Given the description of an element on the screen output the (x, y) to click on. 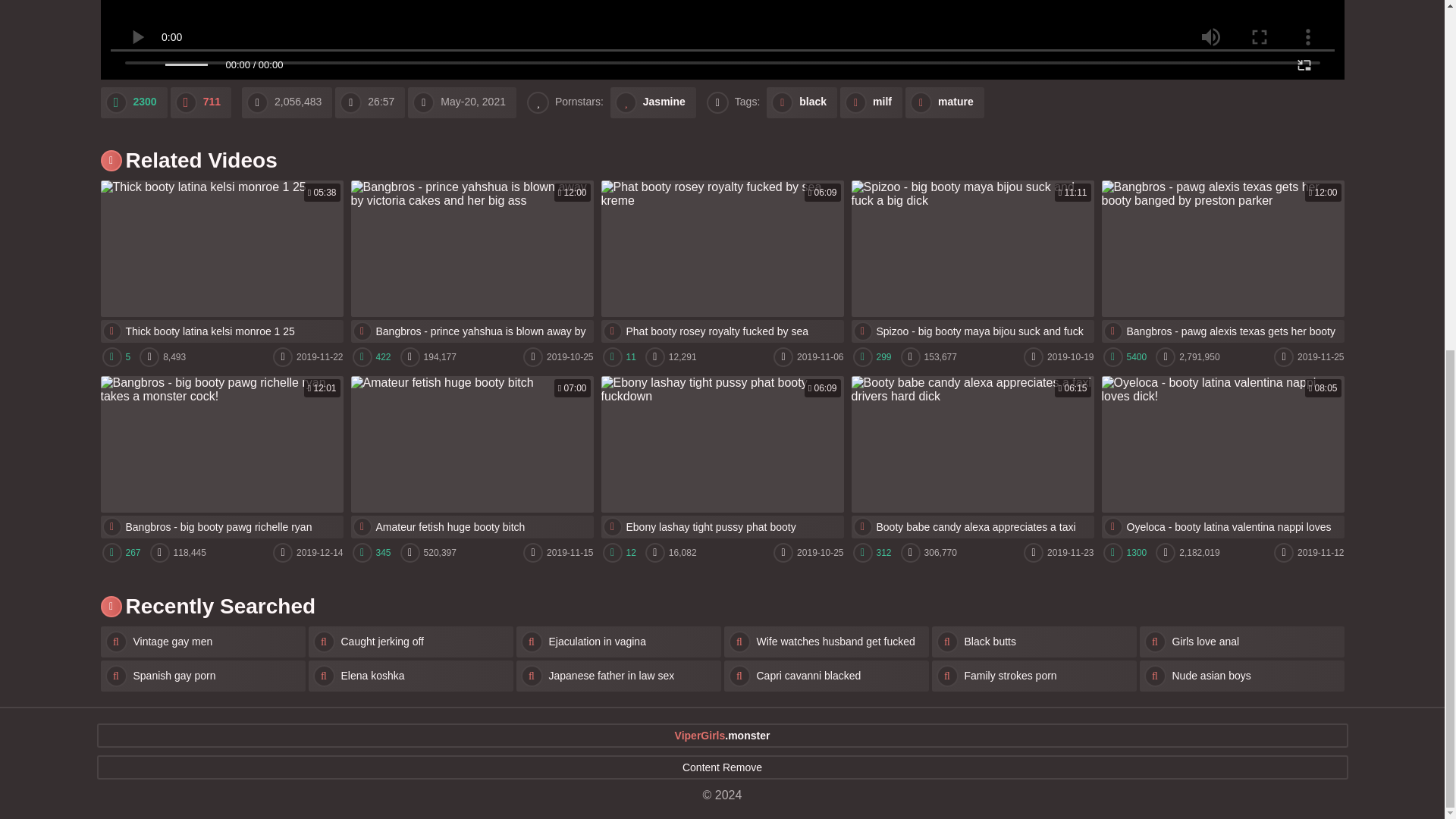
Nude asian boys (1240, 675)
Spanish gay porn (202, 675)
Capri cavanni blacked (825, 675)
dslk! (200, 101)
black (802, 101)
Caught jerking off (409, 641)
Vintage gay men (721, 456)
